Given the description of an element on the screen output the (x, y) to click on. 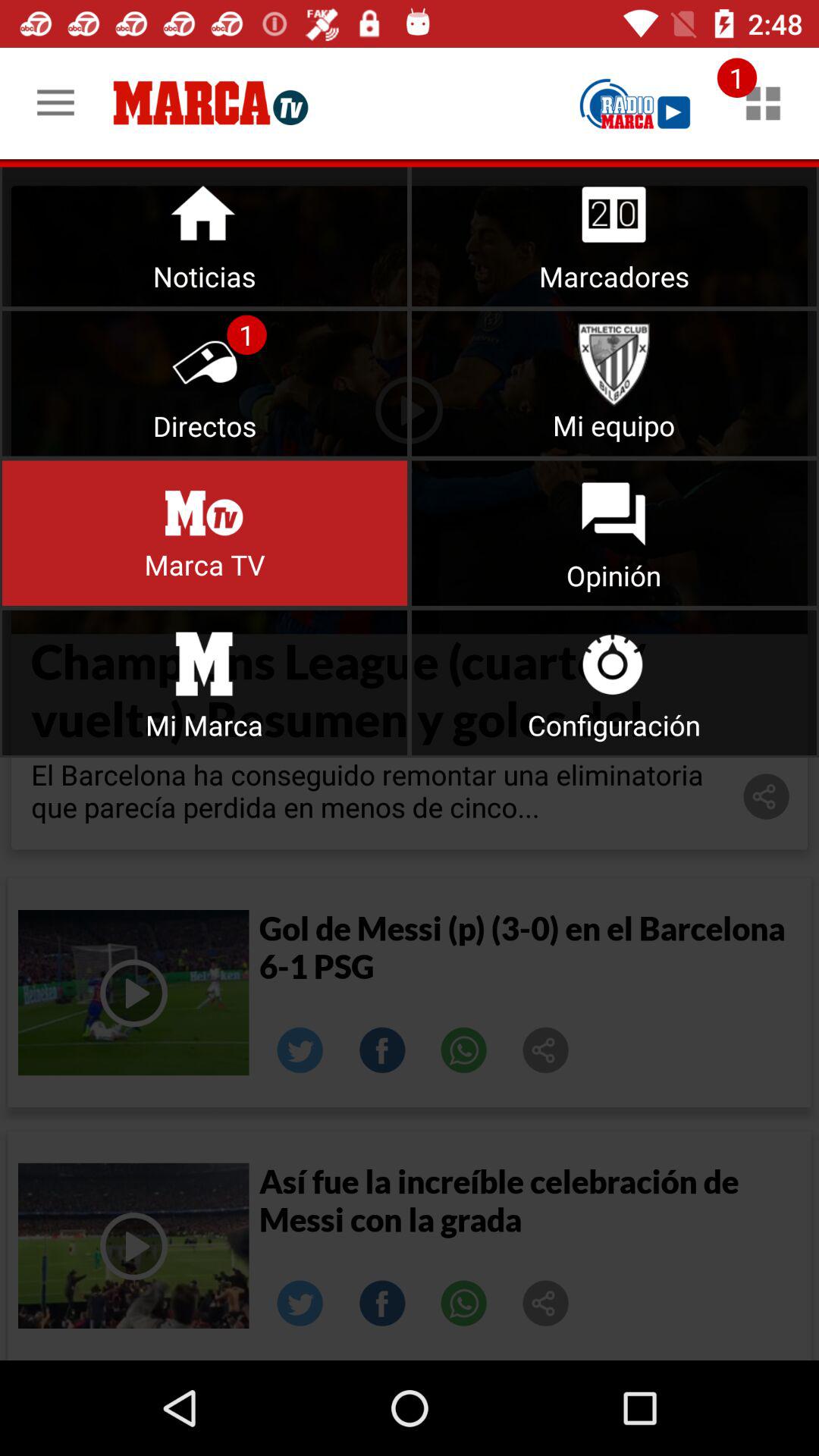
go to directory (204, 383)
